Given the description of an element on the screen output the (x, y) to click on. 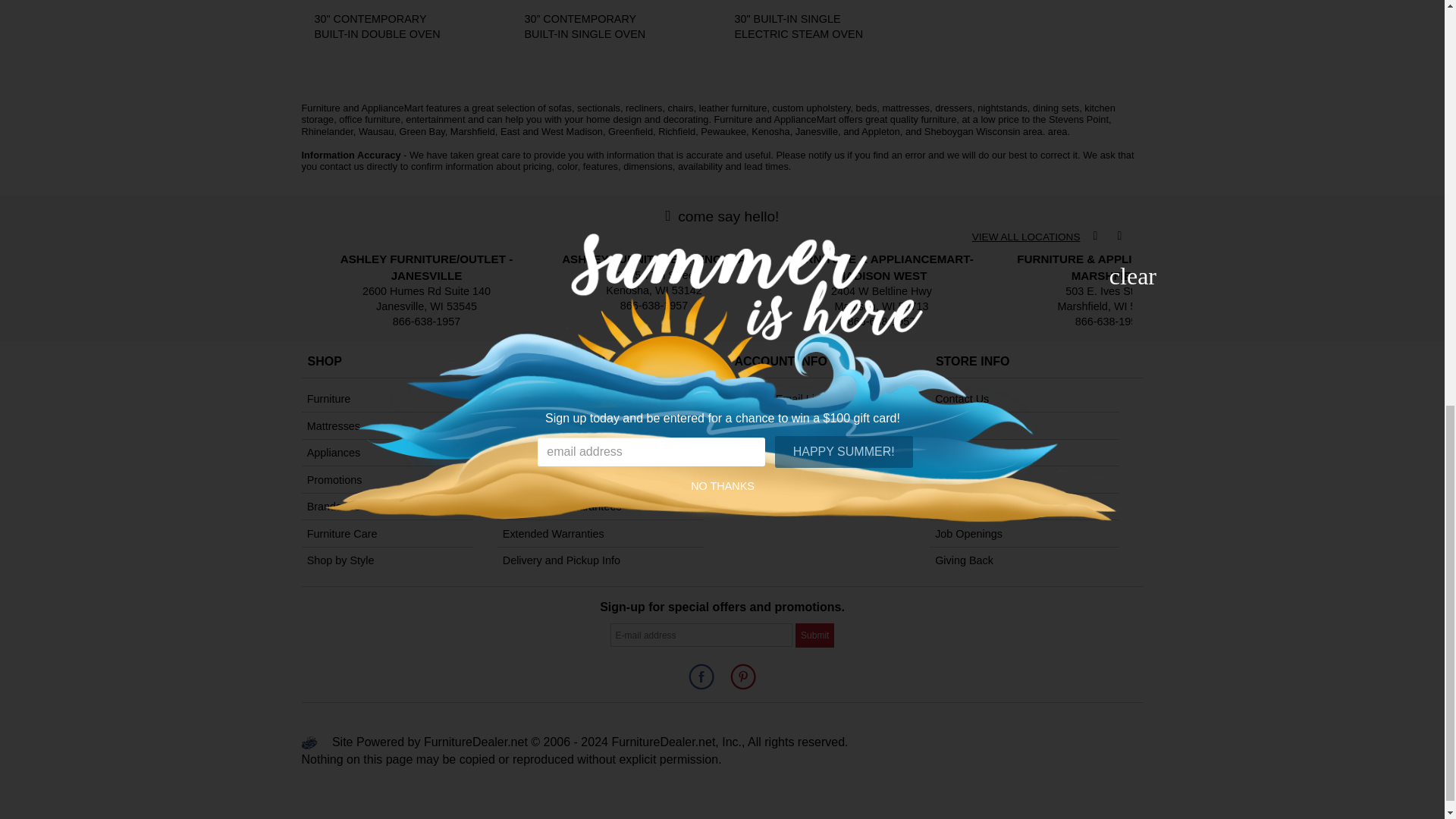
Click to view this Item. (801, 26)
Click to view this Item. (381, 26)
Click to view this Item. (592, 26)
Submit (814, 635)
